Given the description of an element on the screen output the (x, y) to click on. 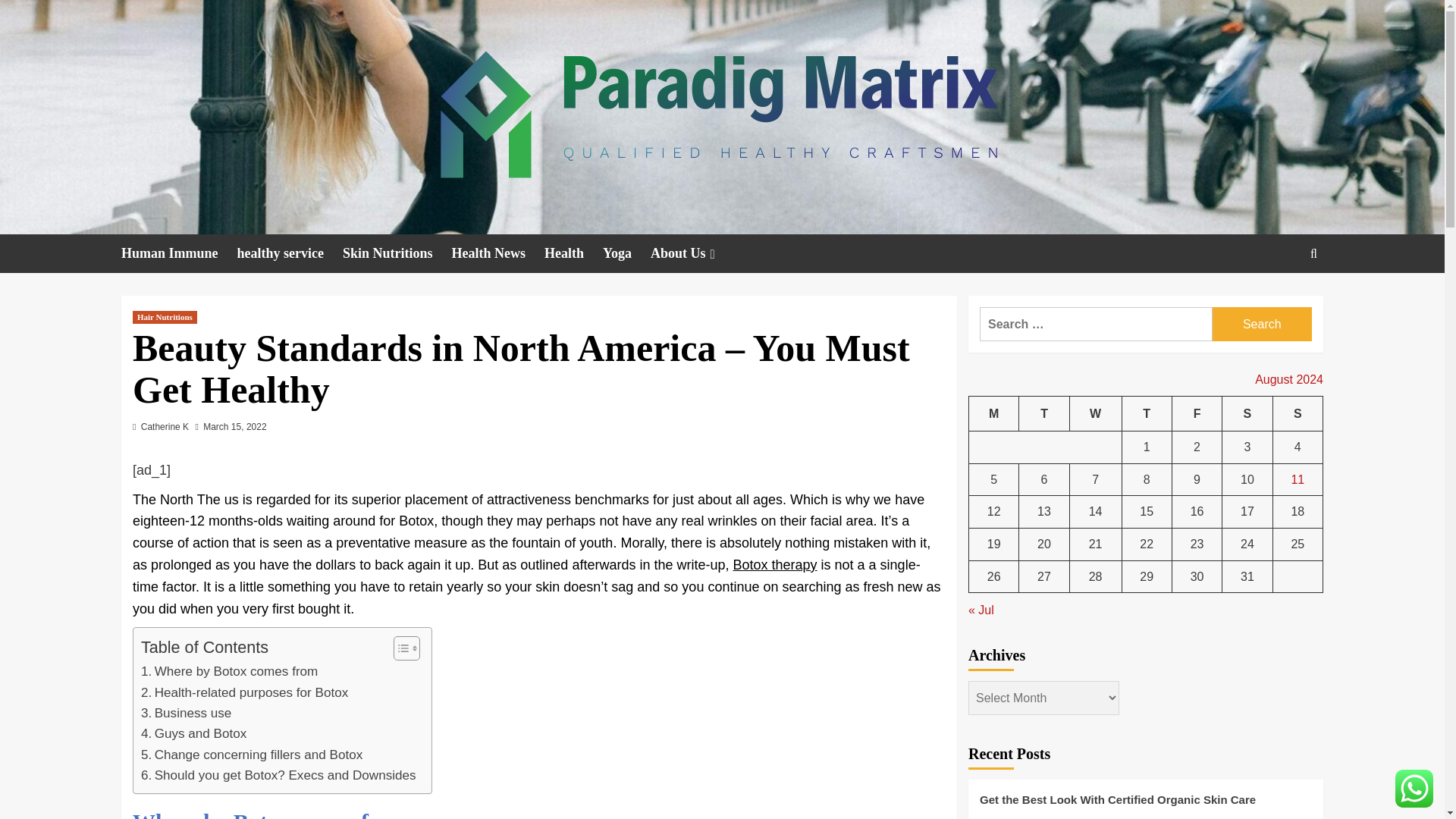
Change concerning fillers and Botox (251, 754)
Where by Botox comes from (229, 670)
Friday (1196, 413)
Should you get Botox? Execs and Downsides (278, 774)
Skin Nutritions (396, 253)
healthy service (289, 253)
Health-related purposes for Botox (244, 692)
Guys and Botox (193, 733)
Health (573, 253)
Human Immune (178, 253)
